Given the description of an element on the screen output the (x, y) to click on. 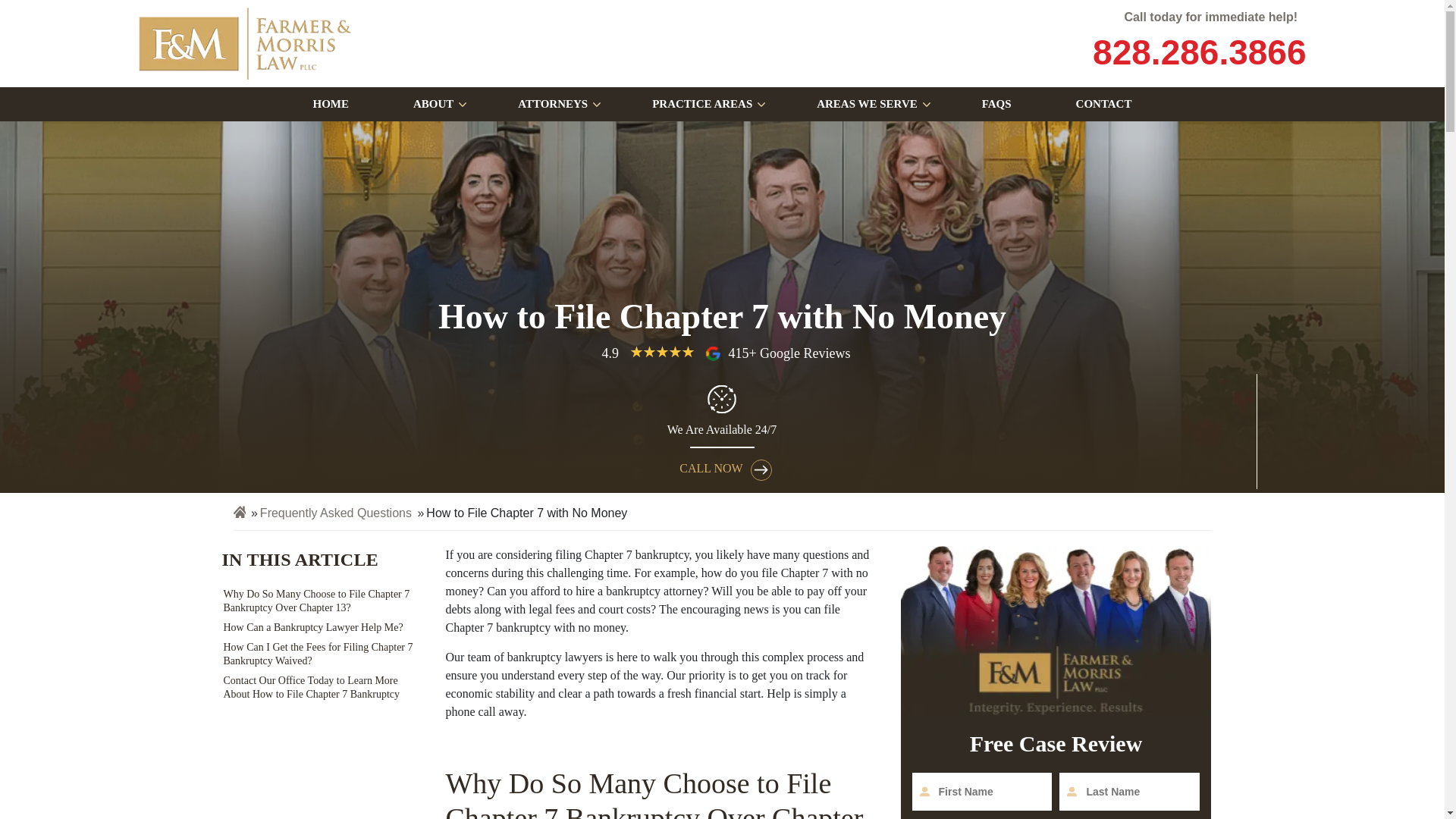
How Can a Bankruptcy Lawyer Help Me? (320, 628)
HOME (331, 103)
FAQS (997, 103)
828.286.3866 (1197, 52)
PRACTICE AREAS (701, 103)
ATTORNEYS (552, 103)
AREAS WE SERVE (866, 103)
ABOUT (432, 103)
CONTACT (1103, 103)
